Given the description of an element on the screen output the (x, y) to click on. 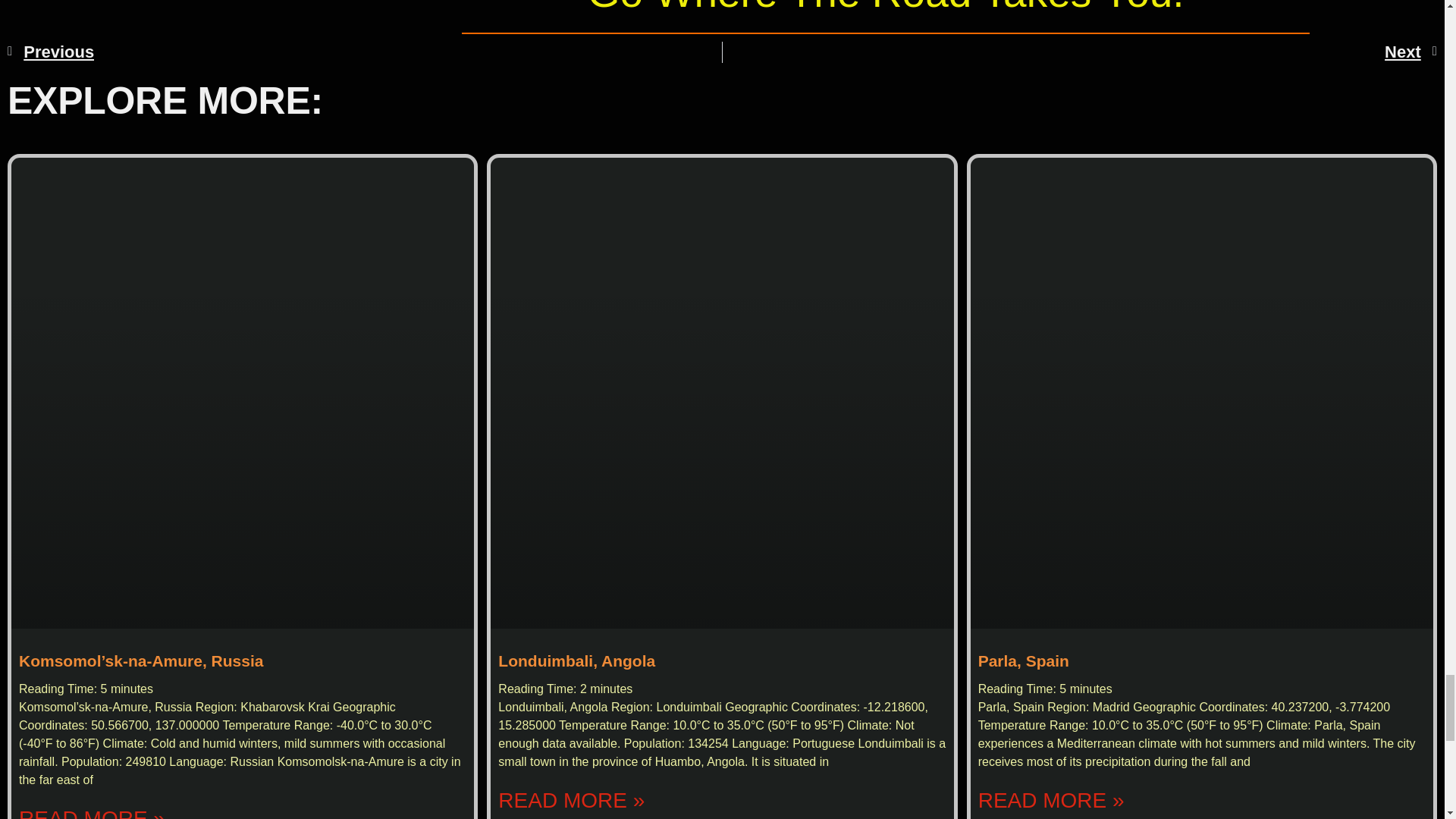
Londuimbali, Angola (576, 660)
Previous (364, 52)
Next (1079, 52)
Parla, Spain (1023, 660)
